Given the description of an element on the screen output the (x, y) to click on. 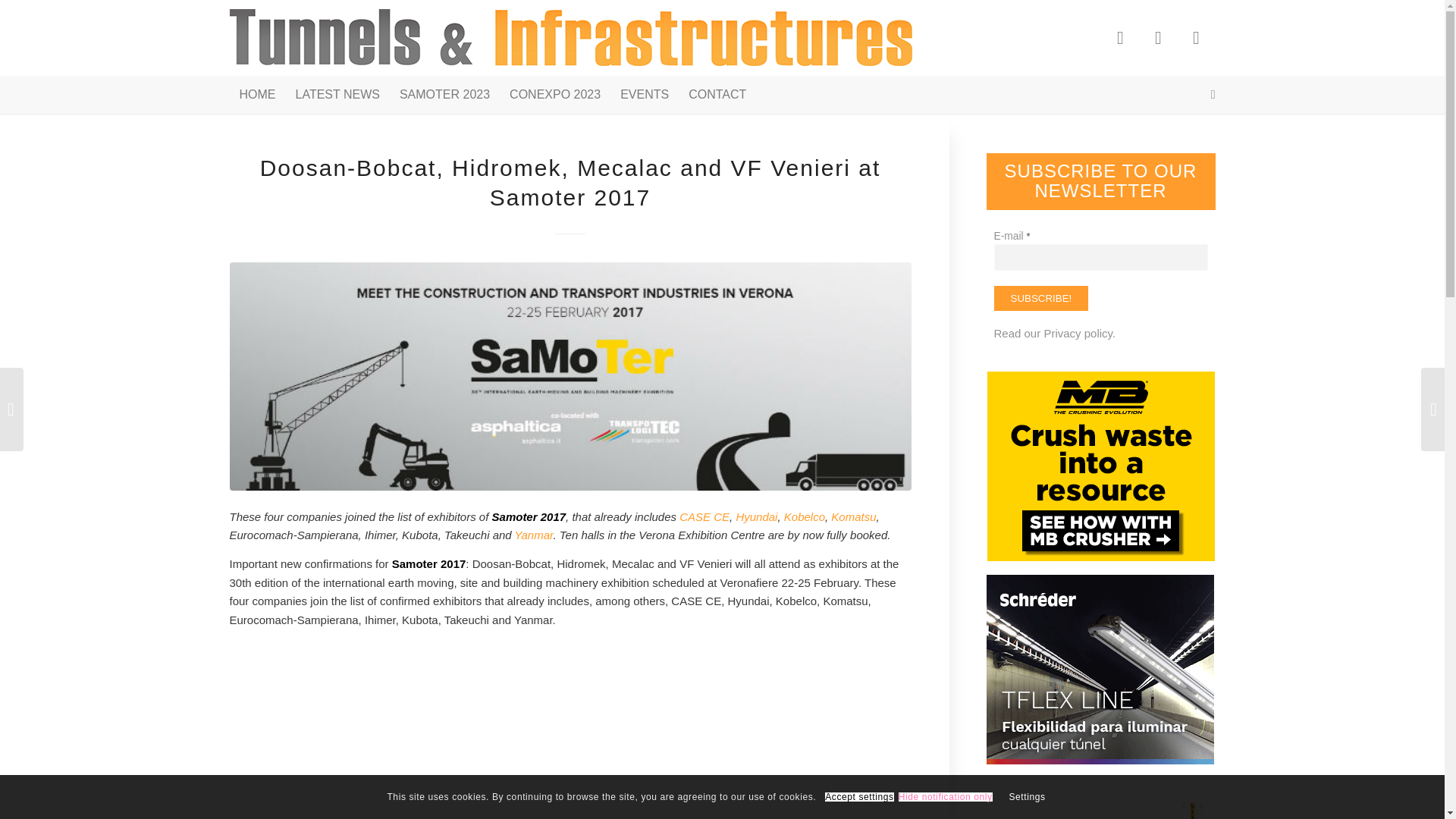
Tunnels-logo-2020-2 (569, 38)
Facebook (1119, 37)
SUBSCRIBE! (1039, 298)
CONEXPO 2023 (554, 94)
HOME (256, 94)
EVENTS (644, 94)
SAMOTER 2023 (444, 94)
CASE CE (704, 516)
CONTACT (716, 94)
Kobelco (804, 516)
Yanmar (534, 534)
Hyundai (756, 516)
LATEST NEWS (336, 94)
Twitter (1158, 37)
LinkedIn (1196, 37)
